Given the description of an element on the screen output the (x, y) to click on. 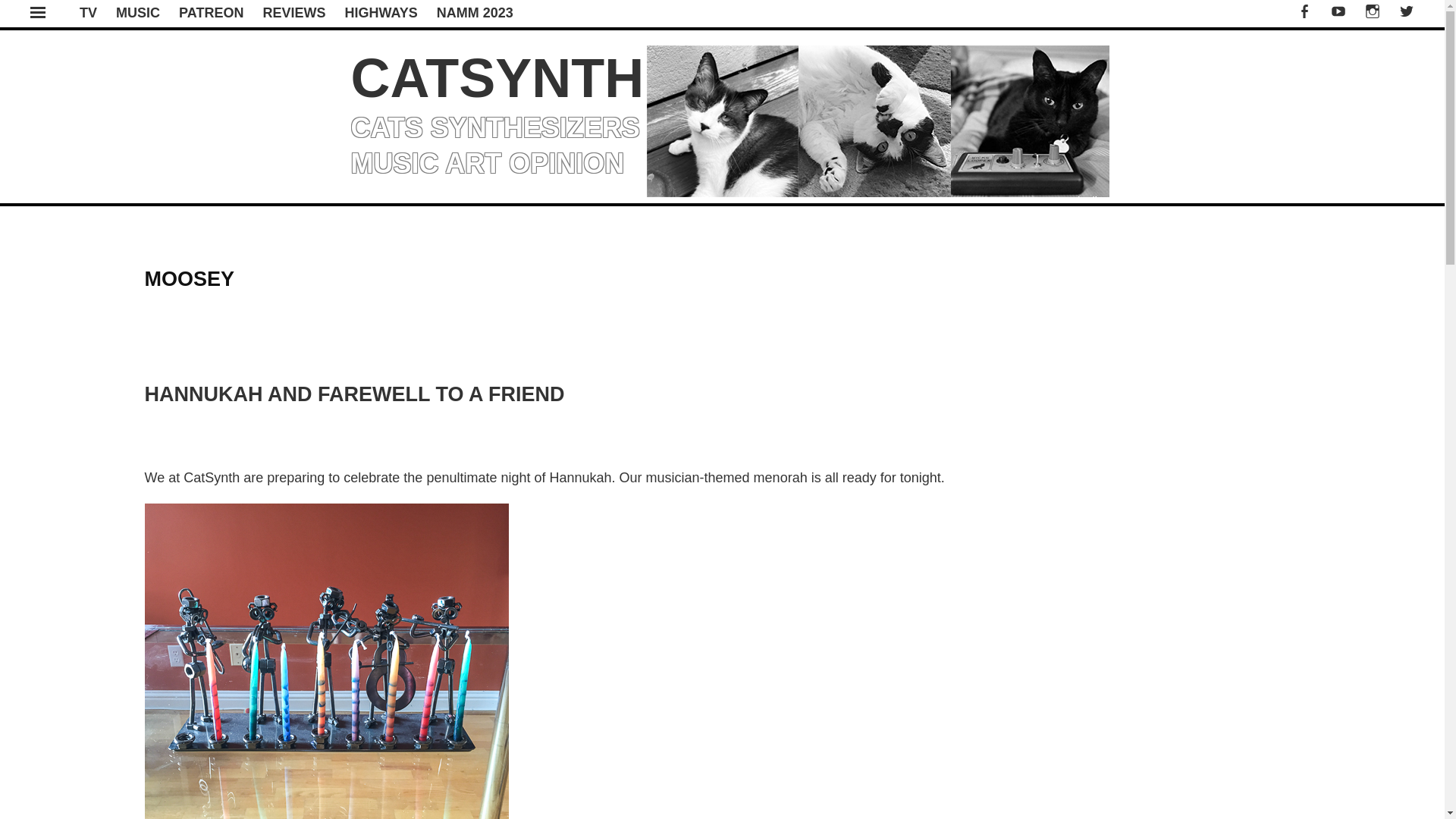
REVIEWS (293, 12)
PATREON (211, 12)
CATSYNTH (496, 77)
NAMM 2023 (474, 12)
TV (88, 12)
MUSIC (138, 12)
HIGHWAYS (379, 12)
